Given the description of an element on the screen output the (x, y) to click on. 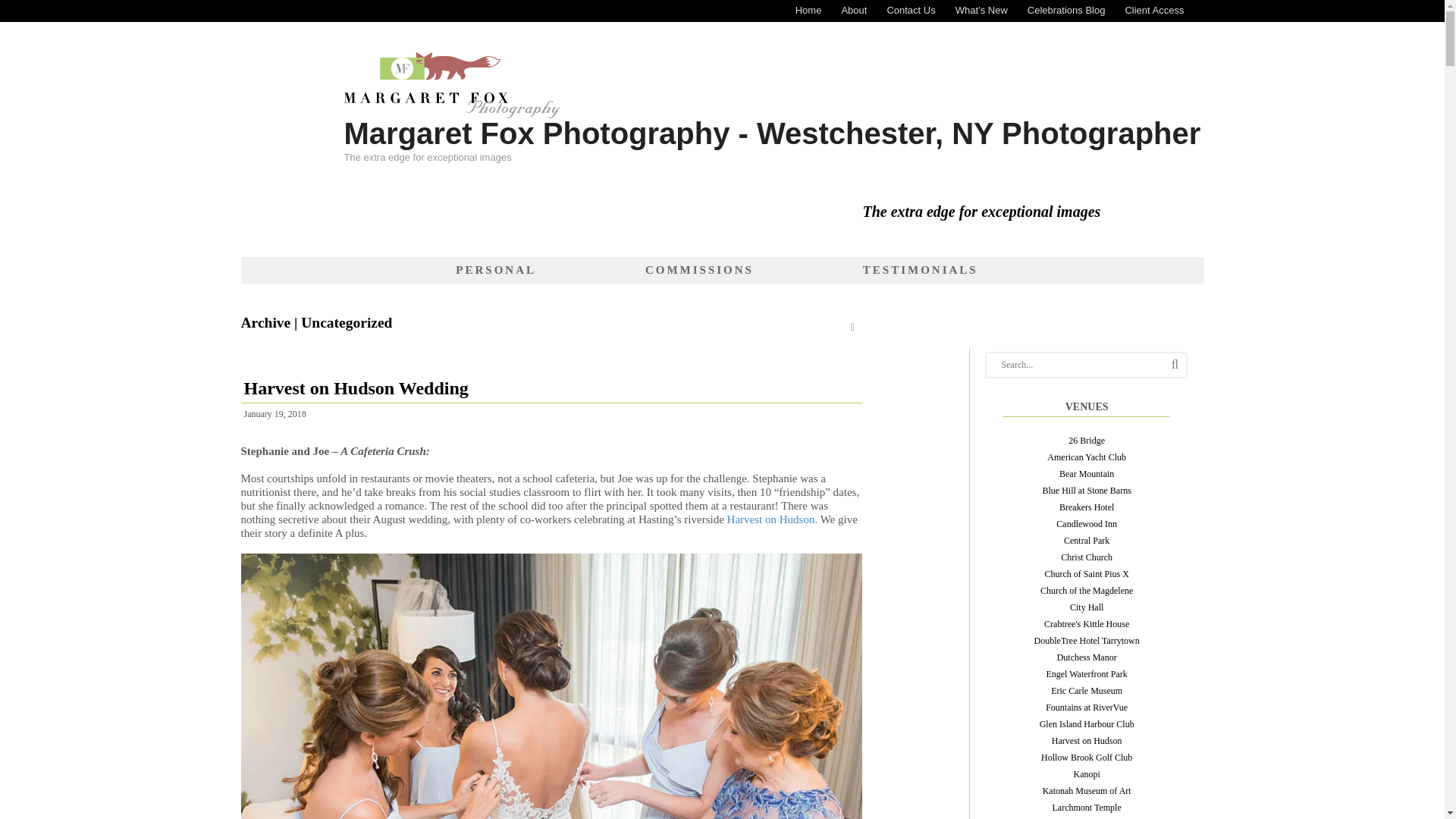
Margaret Fox Photography - Westchester, NY Photographer (772, 133)
Search... (1086, 364)
COMMISSIONS (699, 270)
Client Access (1154, 11)
Home (808, 11)
Harvest on Hudson. (772, 519)
About (853, 11)
TESTIMONIALS (919, 270)
The extra edge for exceptional images (451, 110)
PERSONAL (496, 270)
